Given the description of an element on the screen output the (x, y) to click on. 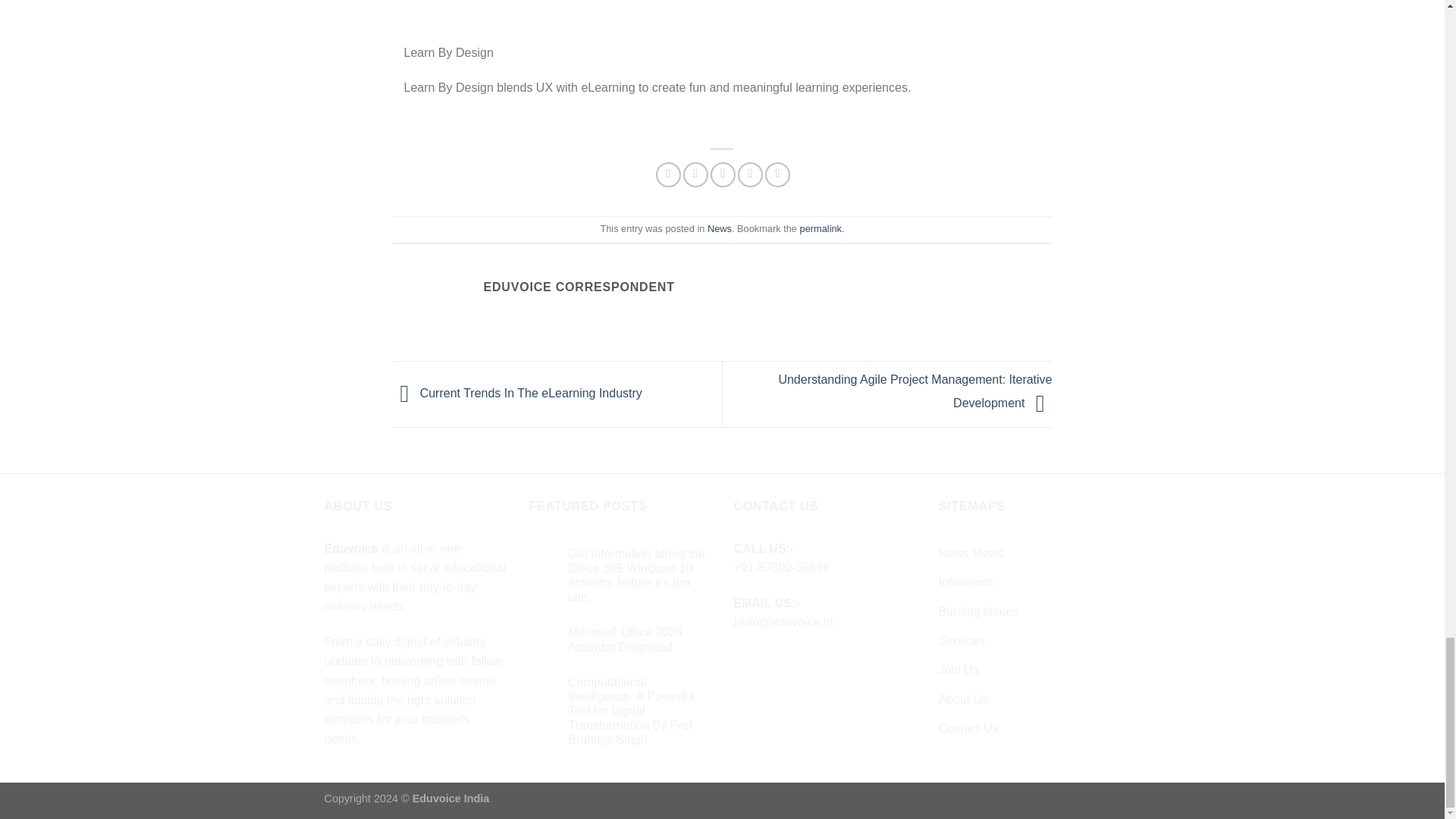
News Views (971, 553)
Email to a Friend (722, 174)
Share on Twitter (694, 174)
Pin on Pinterest (750, 174)
Current Trends In The eLearning Industry (517, 393)
permalink (820, 228)
News (719, 228)
Microsoft Office 2024 Activator Download (638, 638)
Interviews (965, 582)
Share on Facebook (668, 174)
